Given the description of an element on the screen output the (x, y) to click on. 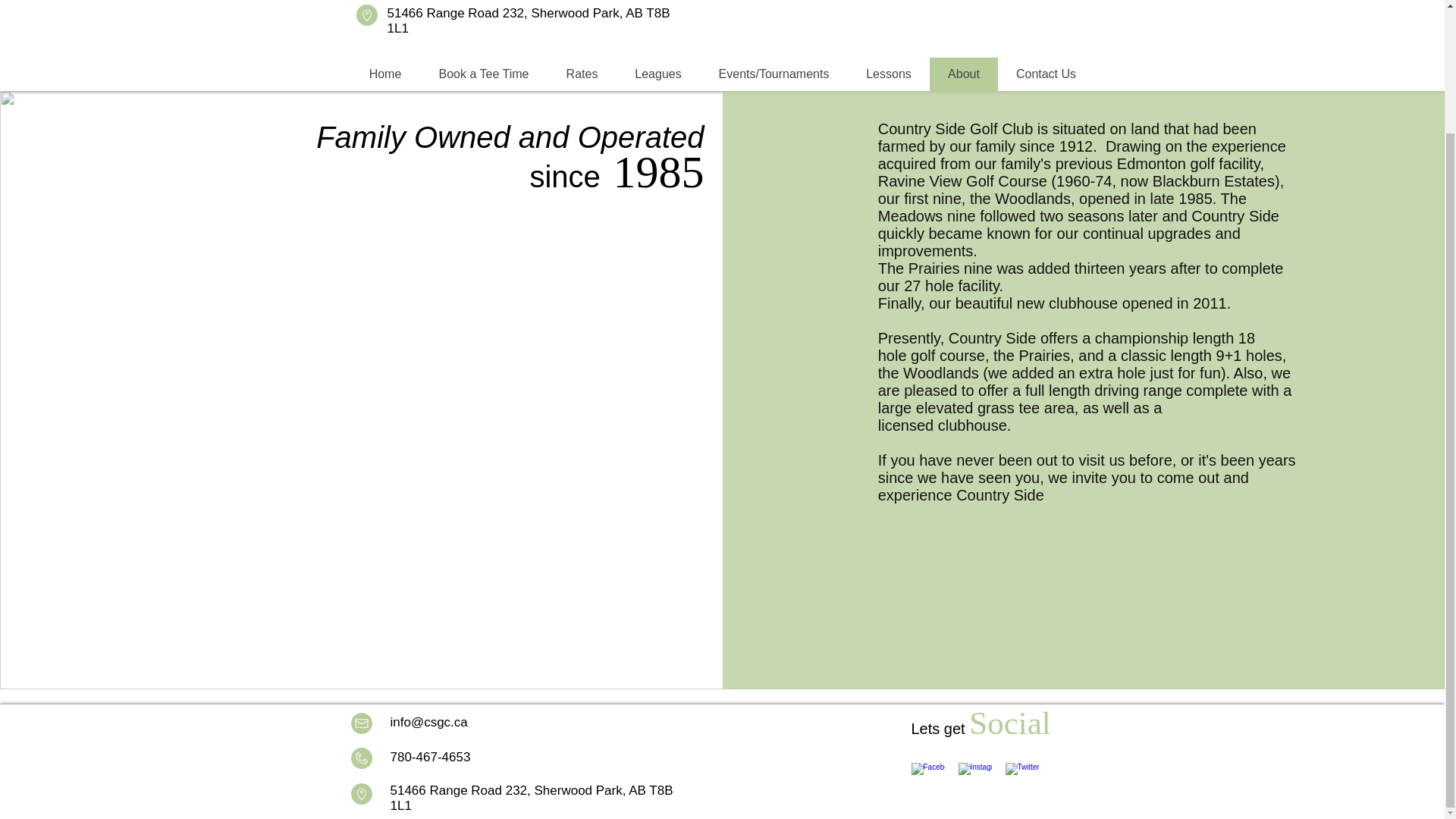
Leagues (656, 73)
Lessons (888, 73)
Home (384, 73)
51466 Range Road 232, Sherwood Park, AB T8B 1L1 (531, 797)
Contact Us (1045, 73)
Rates (581, 73)
780-467-4653 (430, 757)
Book a Tee Time (483, 73)
About (963, 73)
51466 Range Road 232, Sherwood Park, AB T8B 1L1 (528, 20)
